Given the description of an element on the screen output the (x, y) to click on. 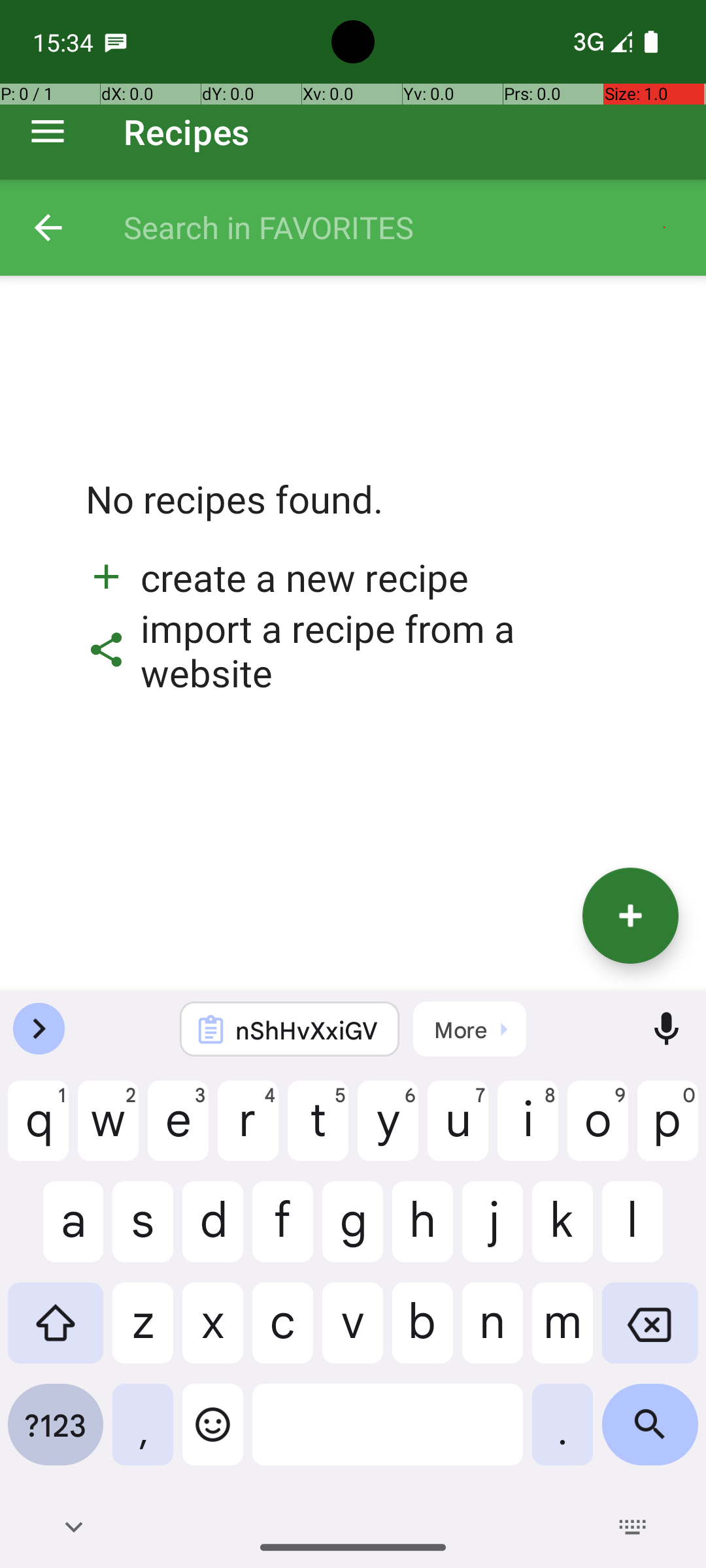
Collapse Element type: android.widget.ImageButton (48, 227)
No recipes found. Element type: android.widget.TextView (234, 512)
create a new recipe Element type: android.widget.TextView (276, 576)
import a recipe from a website Element type: android.widget.TextView (352, 649)
Search in FAVORITES Element type: android.widget.AutoCompleteTextView (400, 227)
nShHvXxiGV Element type: android.widget.TextView (306, 1029)
